Given the description of an element on the screen output the (x, y) to click on. 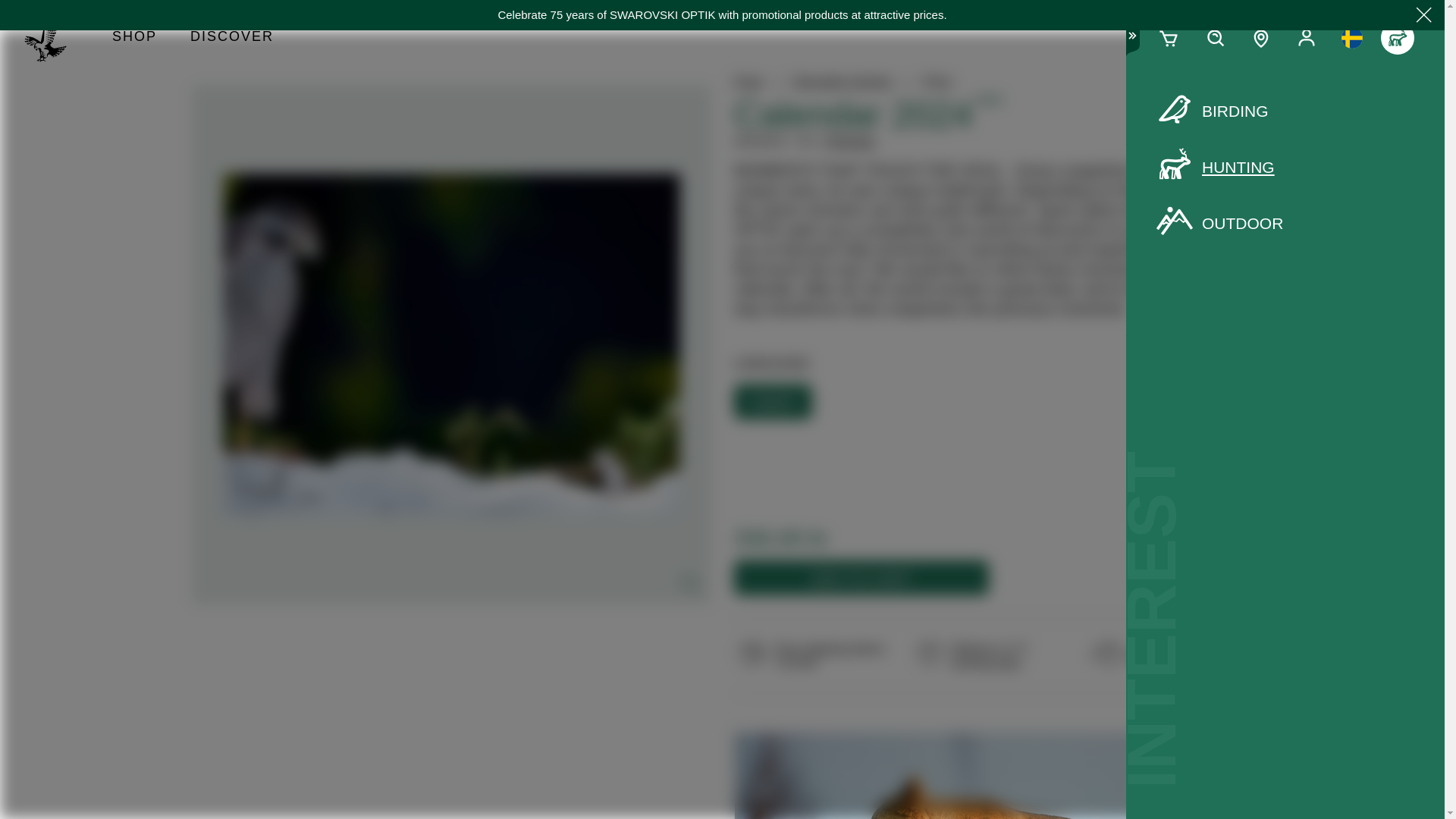
HUNTING (1284, 167)
COUNTRY (1351, 37)
BIRDING (1284, 110)
ACCOUNT (1306, 37)
Shop (134, 37)
Swarovski Optik (51, 38)
SHOP (134, 37)
DEALER LOCATOR (1261, 37)
SEARCH (1215, 37)
INTEREST (1397, 37)
CART (1169, 37)
OUTDOOR (1284, 223)
DISCOVER (231, 37)
Discover (231, 37)
